Given the description of an element on the screen output the (x, y) to click on. 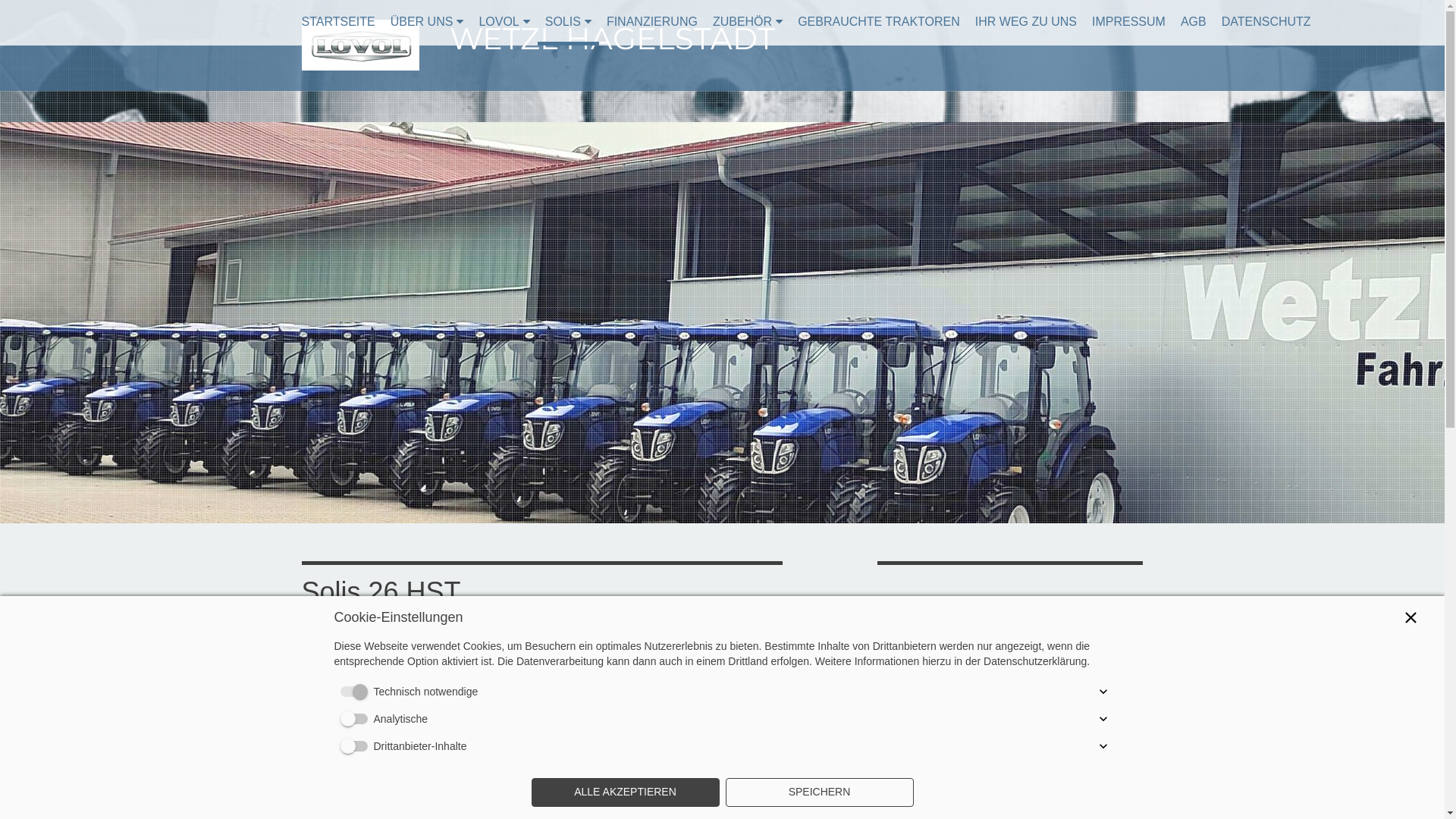
IHR WEG ZU UNS Element type: text (1025, 21)
LOVOL Element type: text (503, 21)
STARTSEITE Element type: text (338, 21)
ALLE AKZEPTIEREN Element type: text (624, 792)
GEBRAUCHTE TRAKTOREN Element type: text (878, 21)
SPEICHERN Element type: text (818, 792)
IMPRESSUM Element type: text (1128, 21)
AGB Element type: text (1193, 21)
FINANZIERUNG Element type: text (651, 21)
DATENSCHUTZ Element type: text (1266, 21)
SOLIS Element type: text (568, 21)
